Given the description of an element on the screen output the (x, y) to click on. 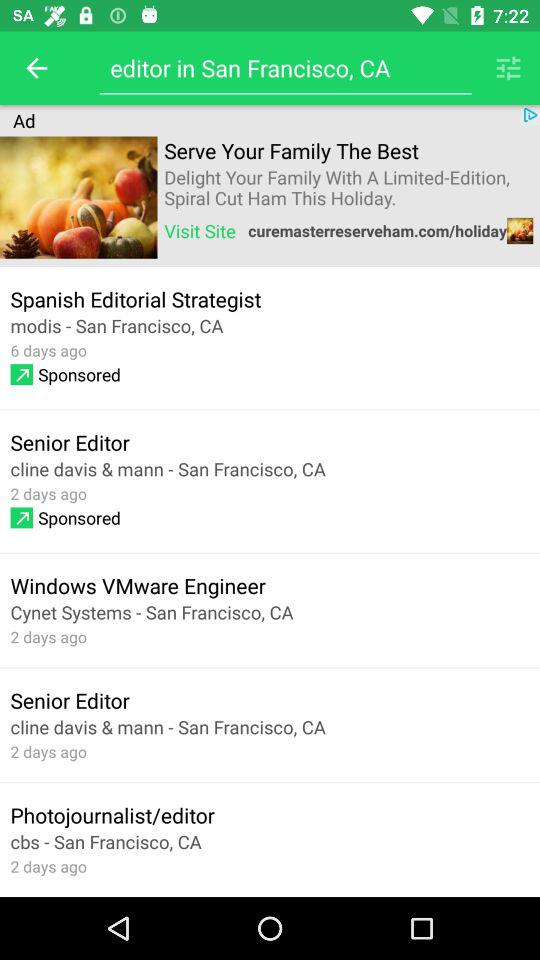
swipe to editor in san icon (285, 67)
